Given the description of an element on the screen output the (x, y) to click on. 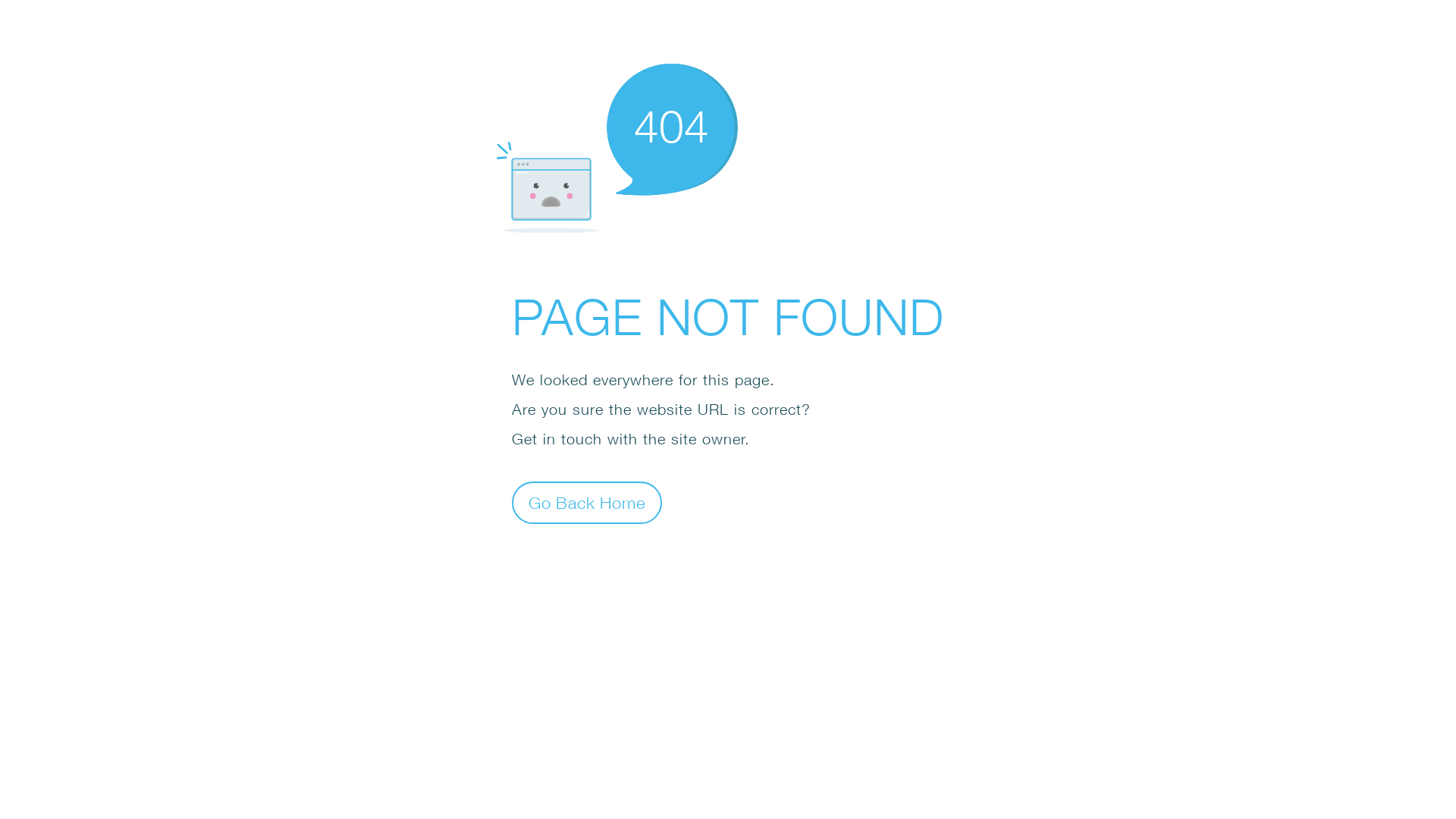
Go Back Home Element type: text (586, 502)
